Given the description of an element on the screen output the (x, y) to click on. 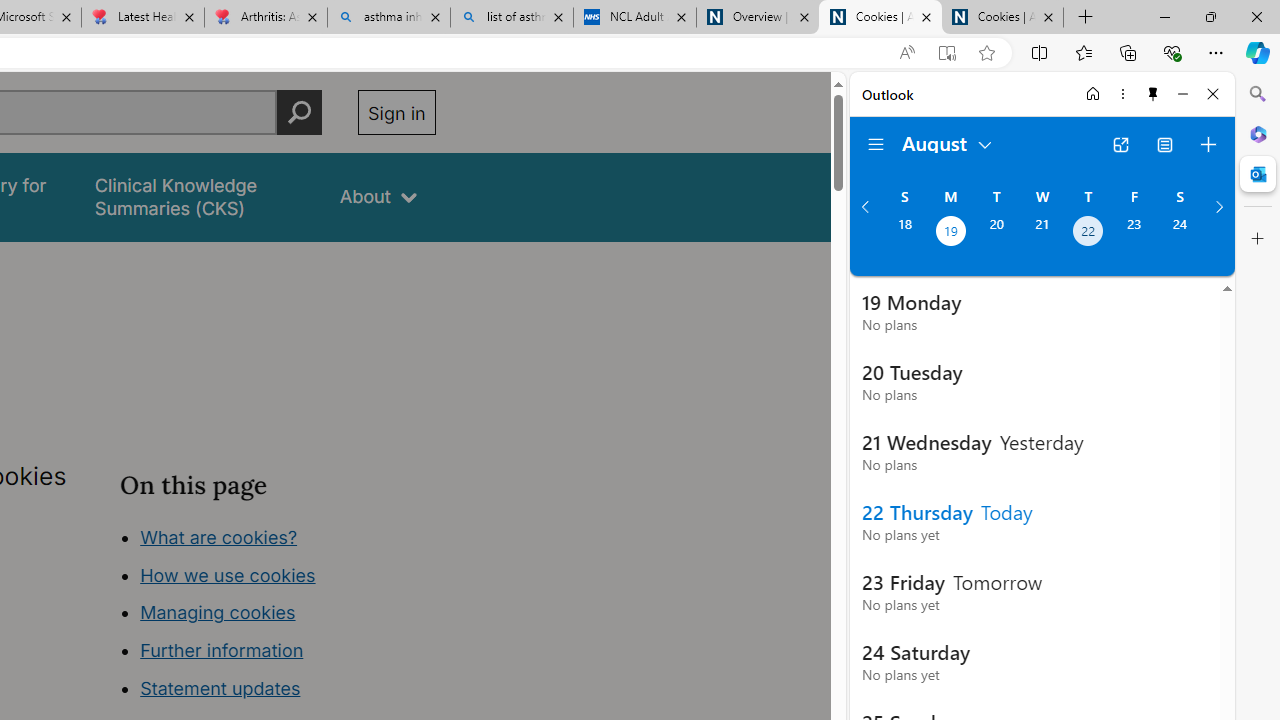
Unpin side pane (1153, 93)
Monday, August 19, 2024. Date selected.  (950, 233)
Friday, August 23, 2024.  (1134, 233)
Open in new tab (1120, 144)
Create event (1208, 144)
About (378, 196)
